Given the description of an element on the screen output the (x, y) to click on. 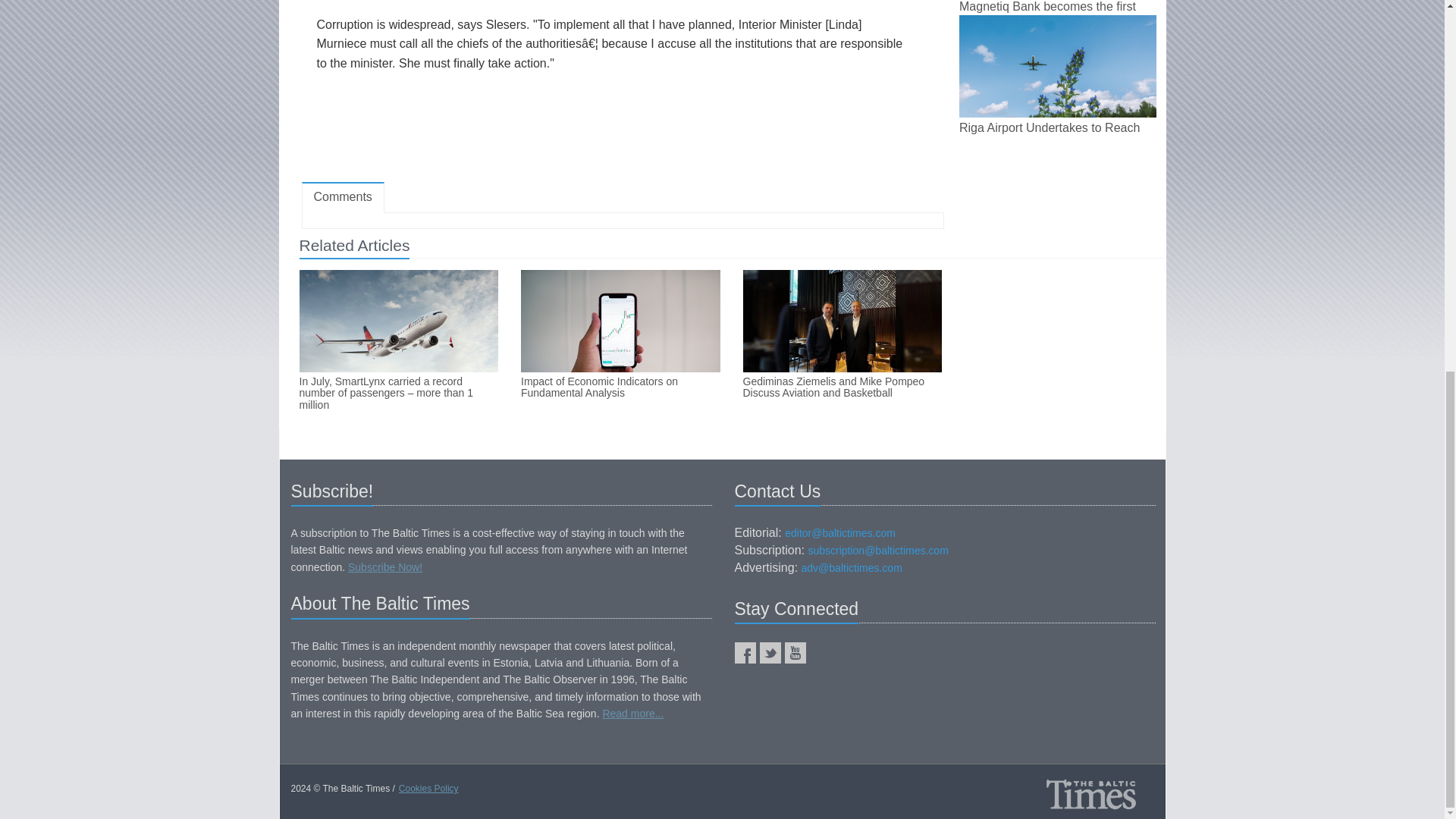
Advertisement (622, 126)
Impact of Economic Indicators on Fundamental Analysis (620, 387)
Comments (342, 196)
